Given the description of an element on the screen output the (x, y) to click on. 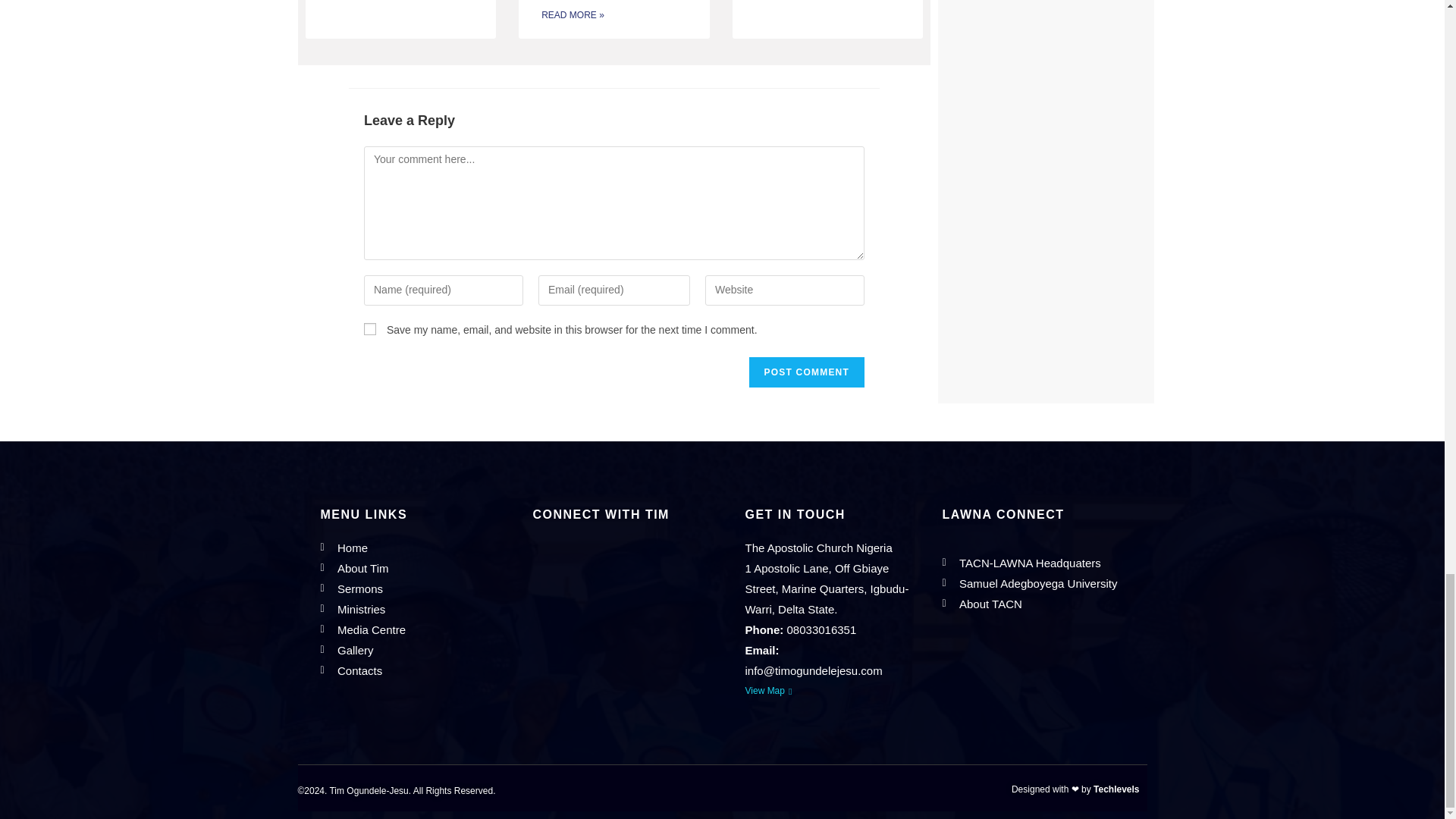
Post Comment (806, 372)
yes (369, 328)
